Given the description of an element on the screen output the (x, y) to click on. 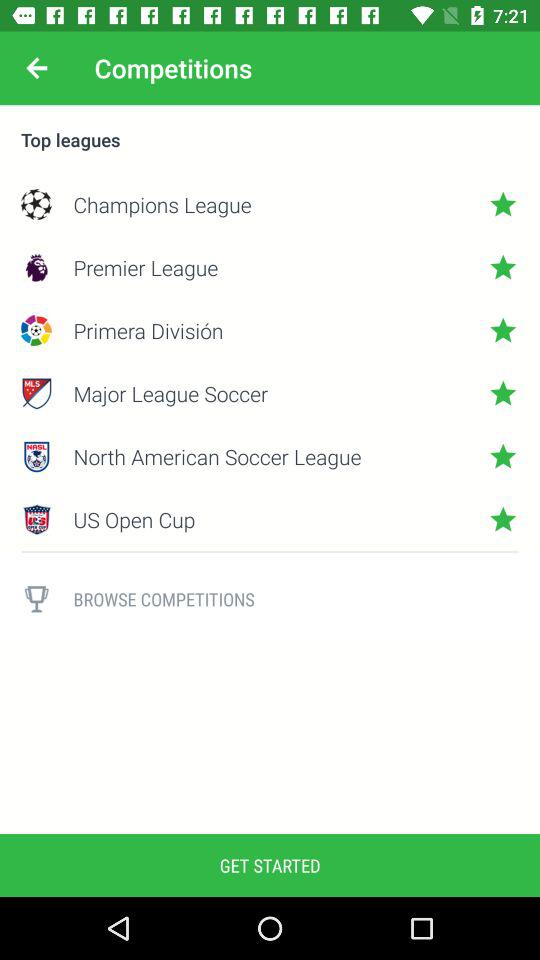
tap the icon below the major league soccer item (269, 456)
